Given the description of an element on the screen output the (x, y) to click on. 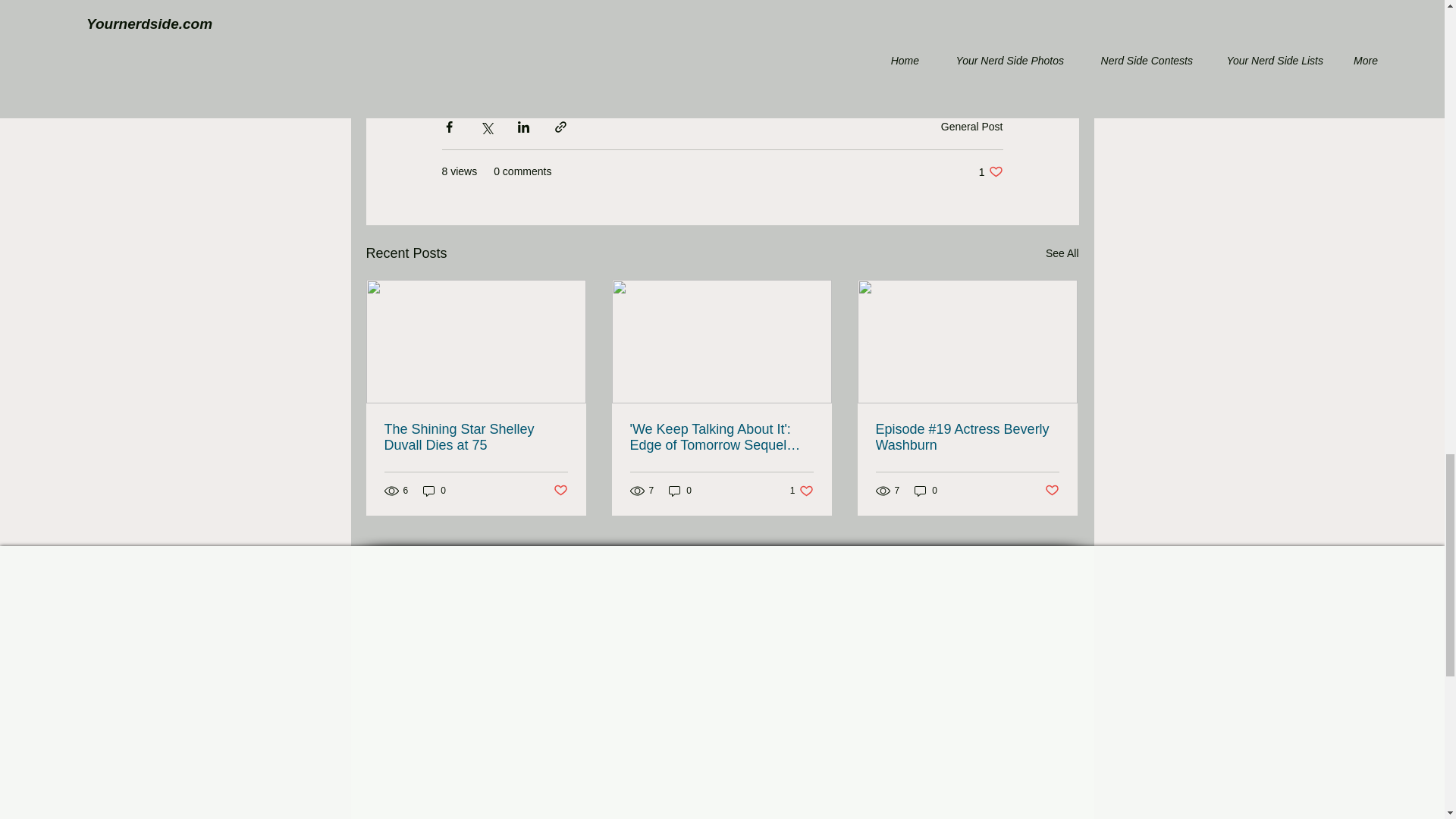
General Post (971, 125)
The Shining Star Shelley Duvall Dies at 75 (475, 437)
0 (990, 171)
See All (434, 490)
